Given the description of an element on the screen output the (x, y) to click on. 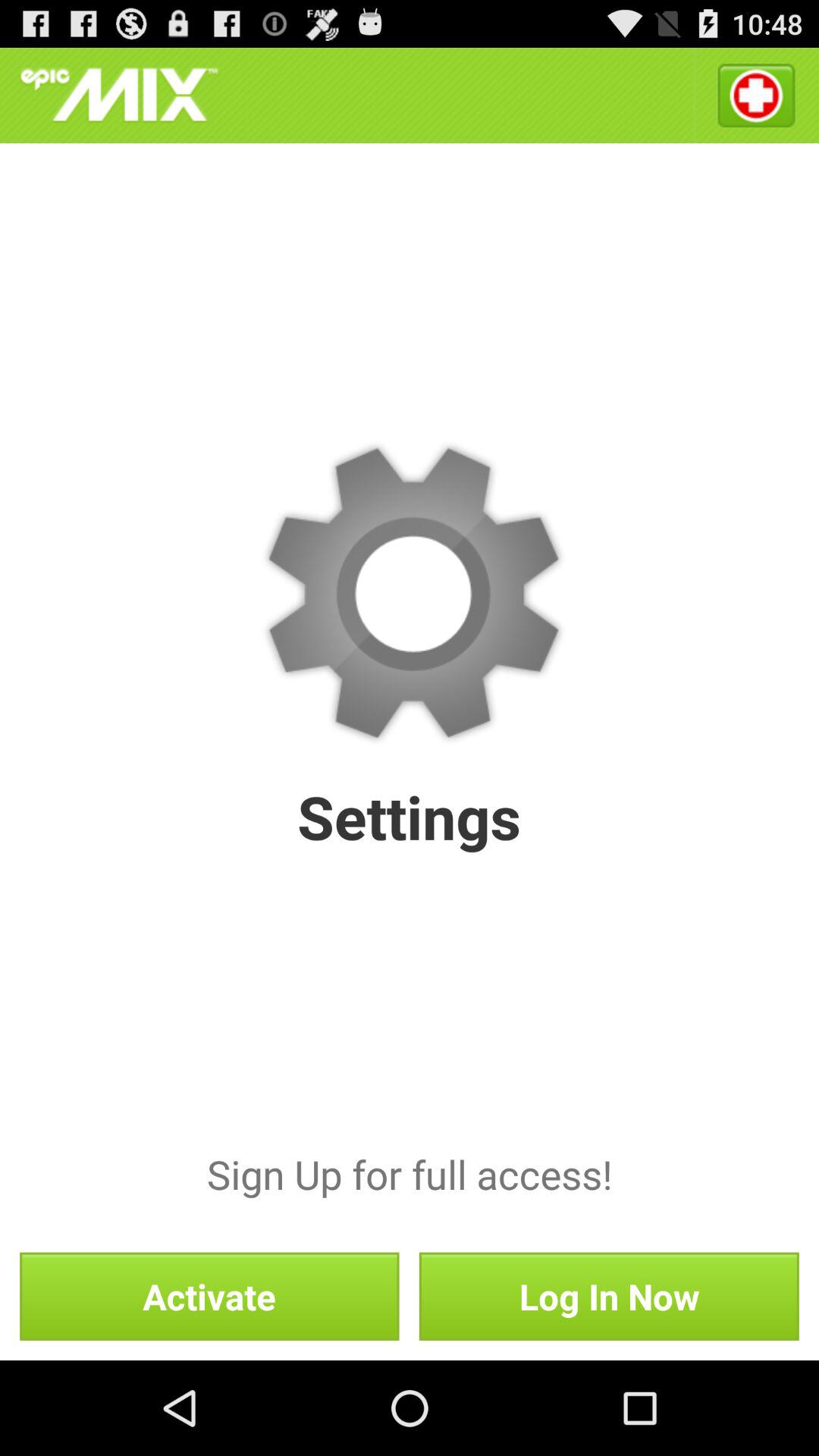
jump until the activate item (209, 1296)
